Given the description of an element on the screen output the (x, y) to click on. 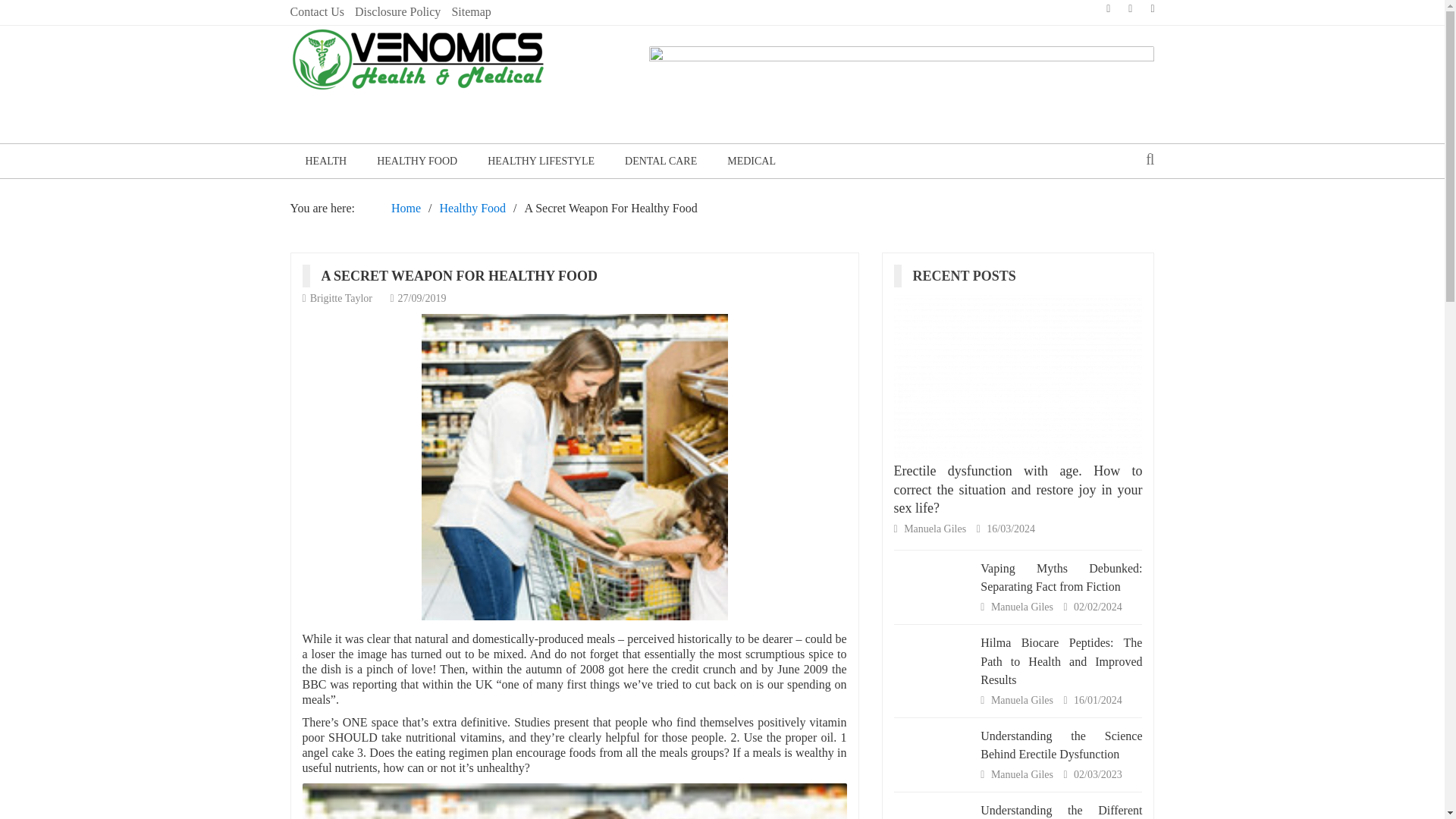
RECENT POSTS (969, 275)
Manuela Giles (1024, 774)
Vaping Myths Debunked: Separating Fact from Fiction (1060, 576)
Contact Us (316, 12)
Understanding the Science Behind Erectile Dysfunction (1060, 744)
Manuela Giles (1024, 699)
Healthy Food (472, 207)
